Given the description of an element on the screen output the (x, y) to click on. 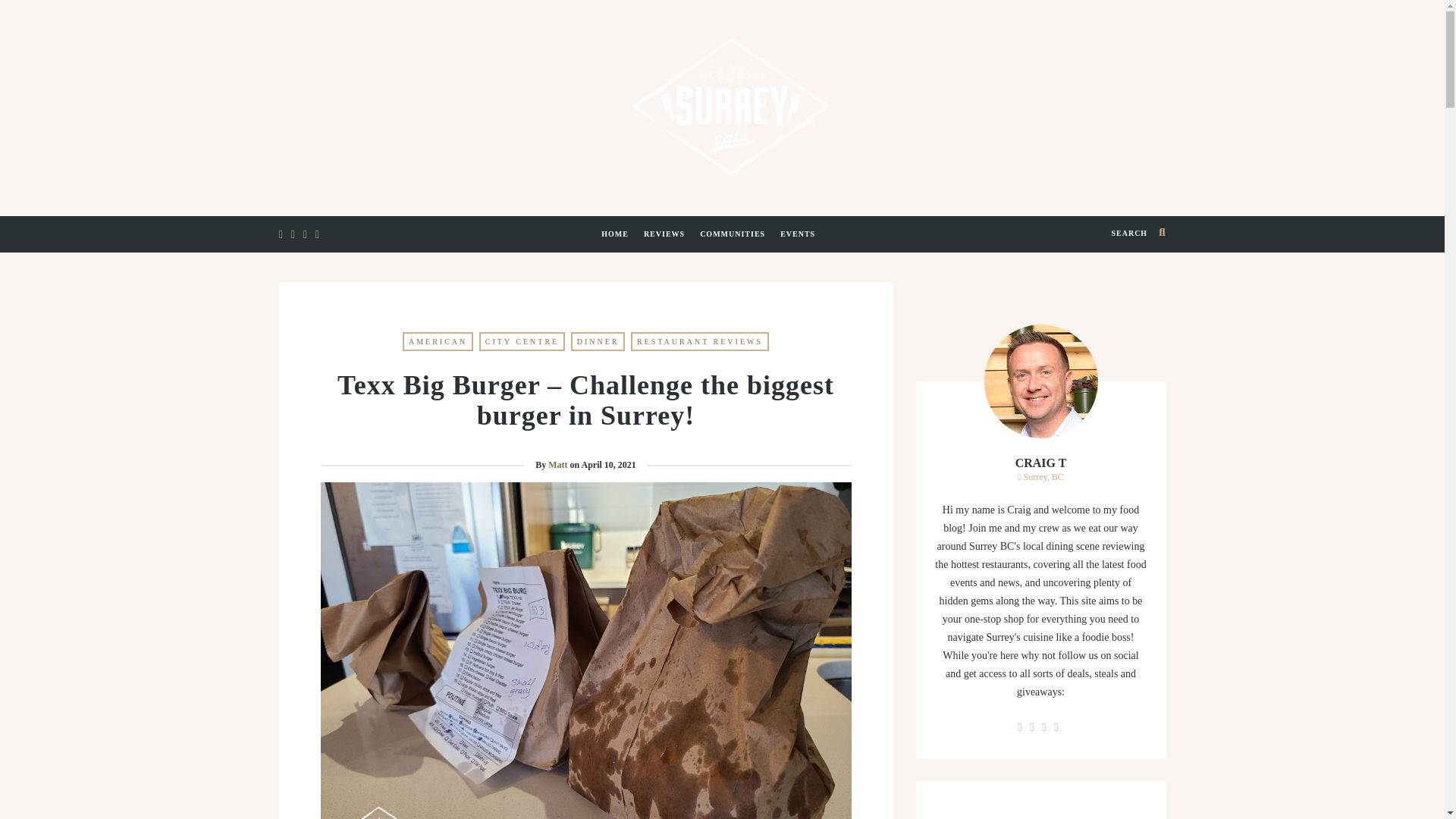
HOME (618, 242)
Posts by Matt (557, 464)
COMMUNITIES (736, 242)
Surrey Eats (722, 104)
REVIEWS (668, 242)
SEARCH (1138, 233)
